Given the description of an element on the screen output the (x, y) to click on. 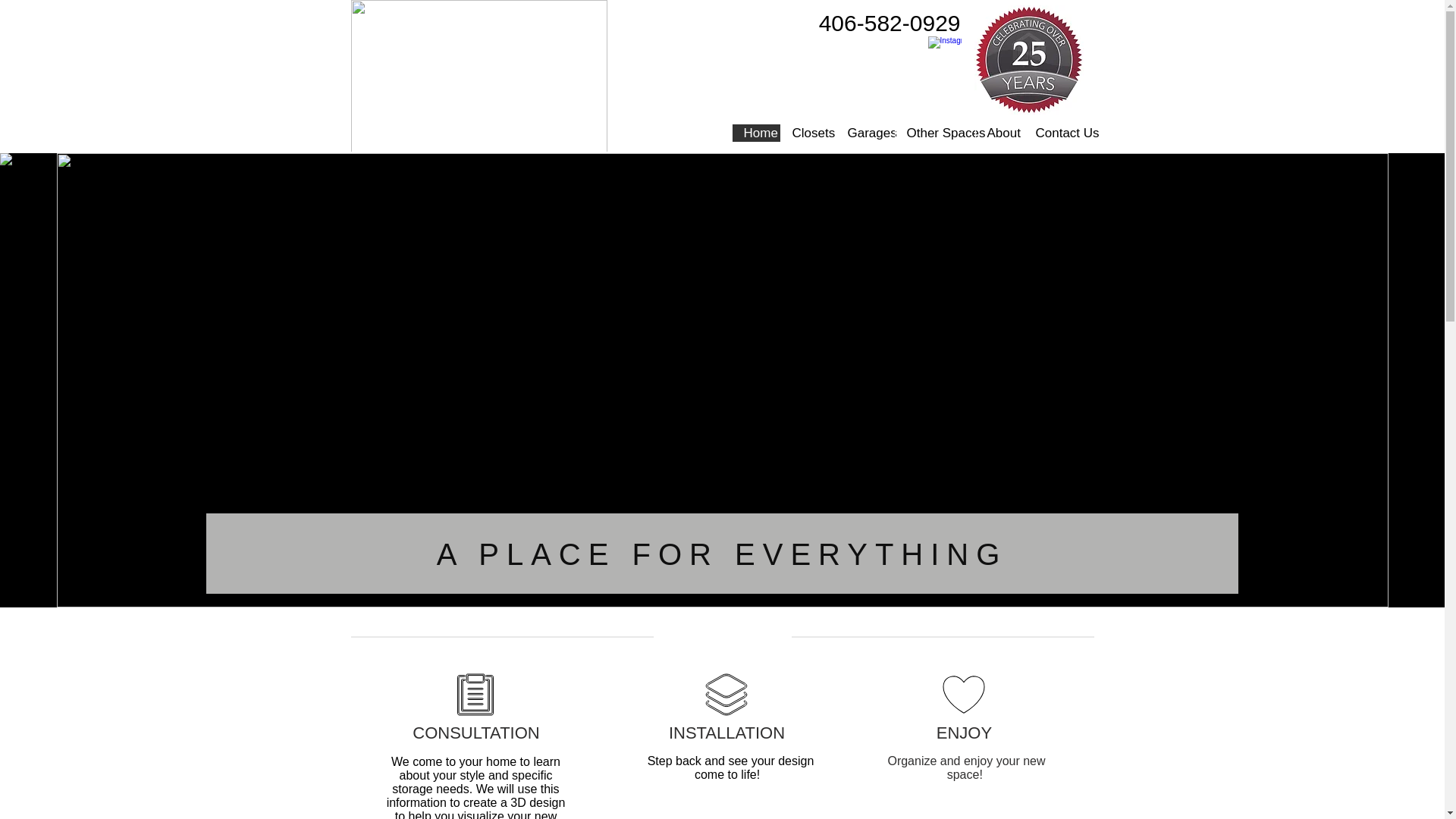
Garages (865, 132)
Other Spaces (935, 132)
Home (754, 132)
Contact Us (1058, 132)
About (999, 132)
Closets (806, 132)
